Given the description of an element on the screen output the (x, y) to click on. 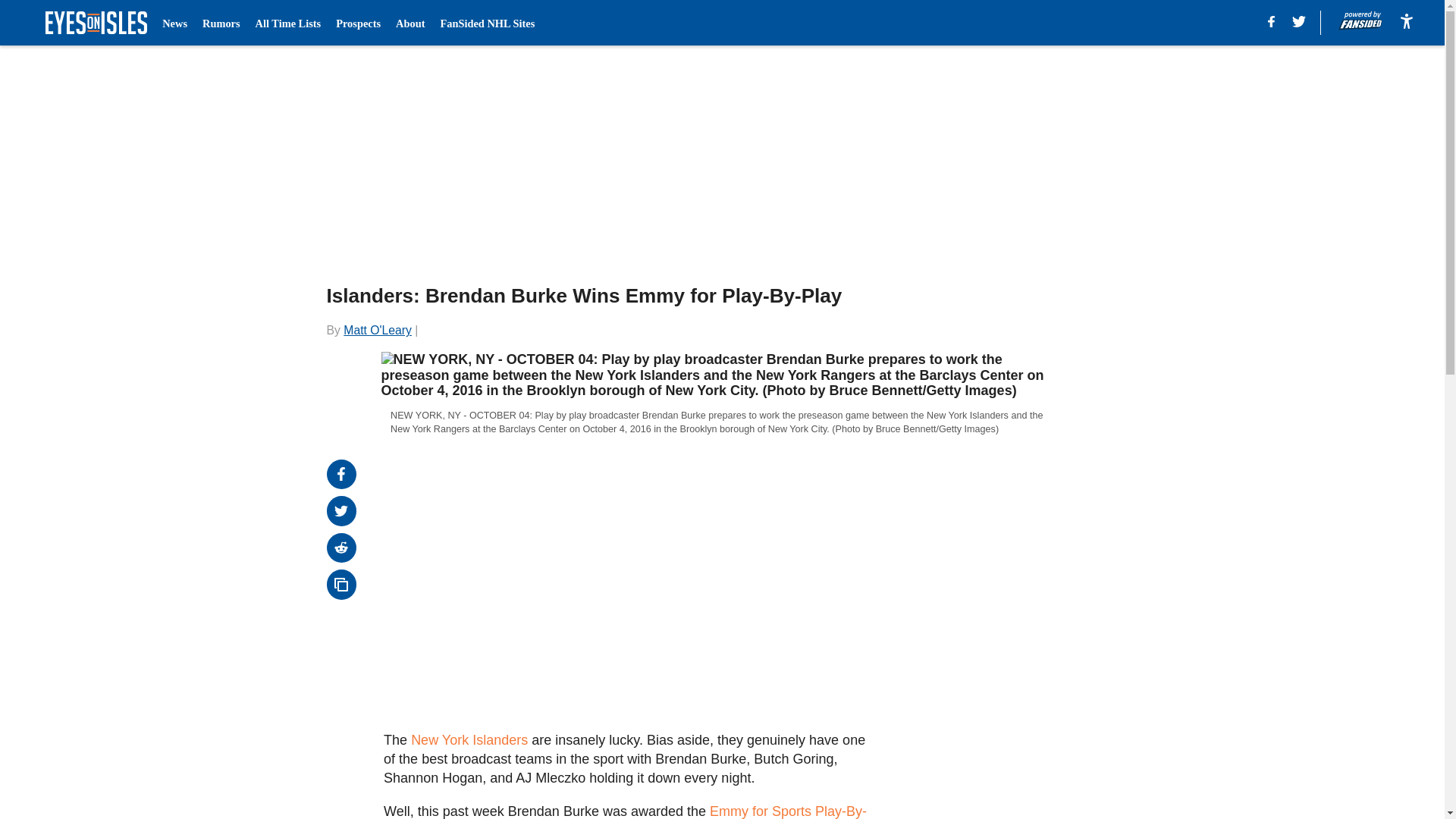
Matt O'Leary (377, 329)
All Time Lists (288, 23)
New York Islanders (468, 739)
News (174, 23)
About (410, 23)
Emmy for Sports Play-By-Play (625, 811)
Prospects (358, 23)
Rumors (221, 23)
FanSided NHL Sites (486, 23)
